Given the description of an element on the screen output the (x, y) to click on. 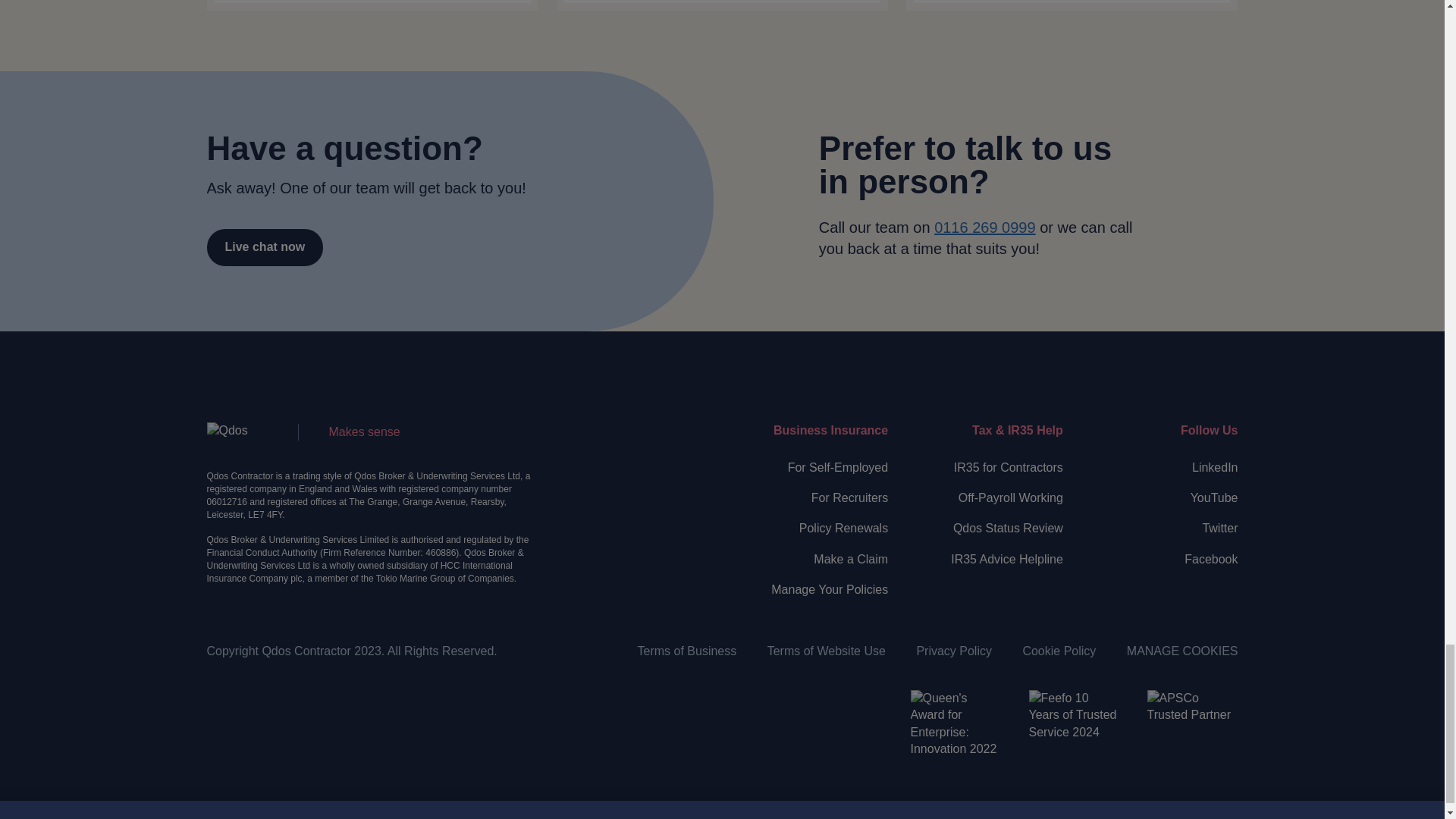
Privacy Policy (953, 650)
Terms of Website Use (826, 650)
Terms of Business (686, 650)
Feefo - 10 Years of Trusted Service 2024 (1073, 735)
Cookie Policy (1059, 650)
Call 0116 269 0999 (984, 227)
